Given the description of an element on the screen output the (x, y) to click on. 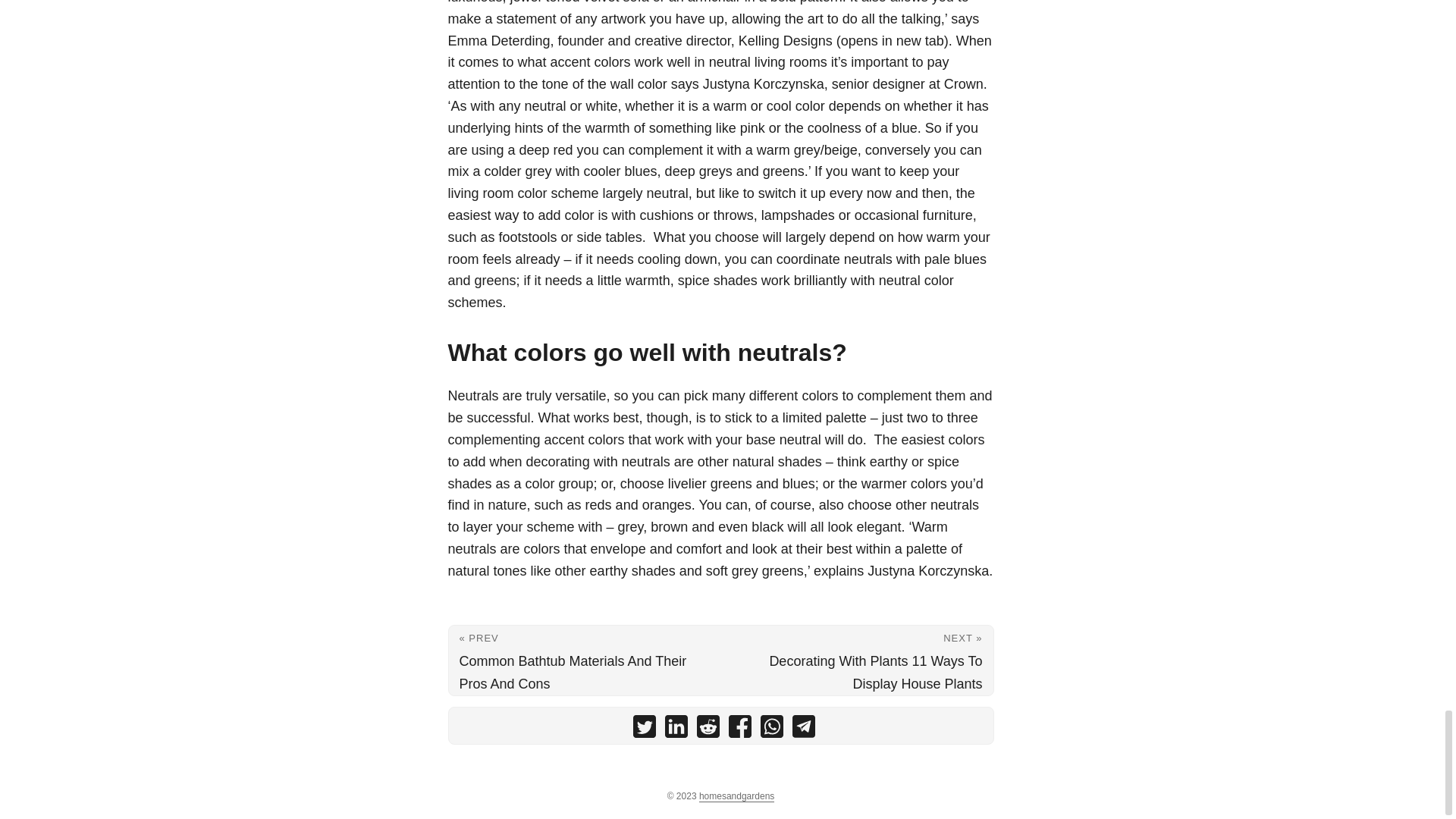
homesandgardens (736, 796)
